Given the description of an element on the screen output the (x, y) to click on. 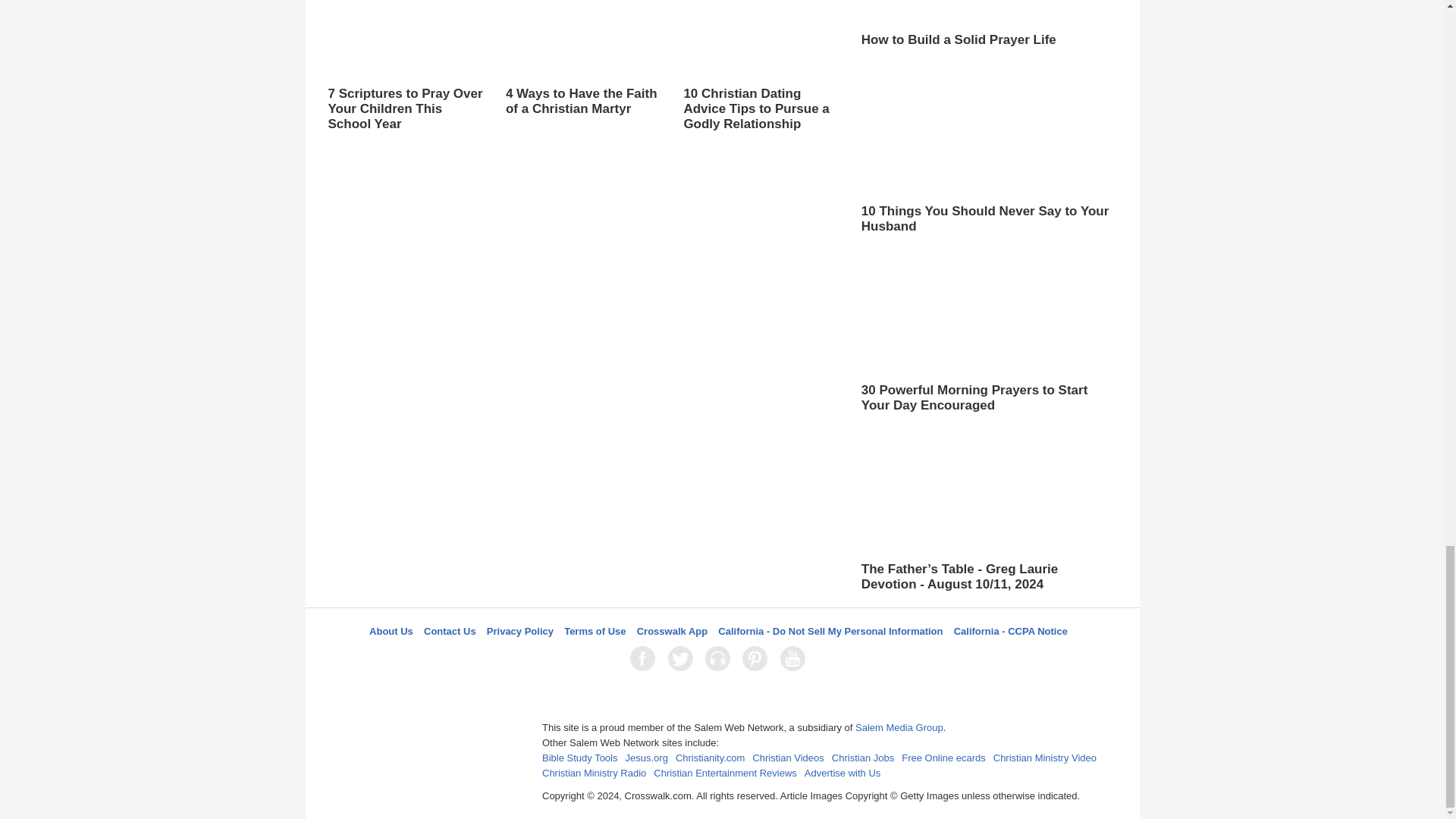
Facebook (645, 658)
Pinterest (757, 658)
4 Ways to Have the Faith of a Christian Martyr (583, 59)
LifeAudio (719, 658)
YouTube (795, 658)
Twitter (683, 658)
7 Scriptures to Pray Over Your Children This School Year (404, 66)
